Given the description of an element on the screen output the (x, y) to click on. 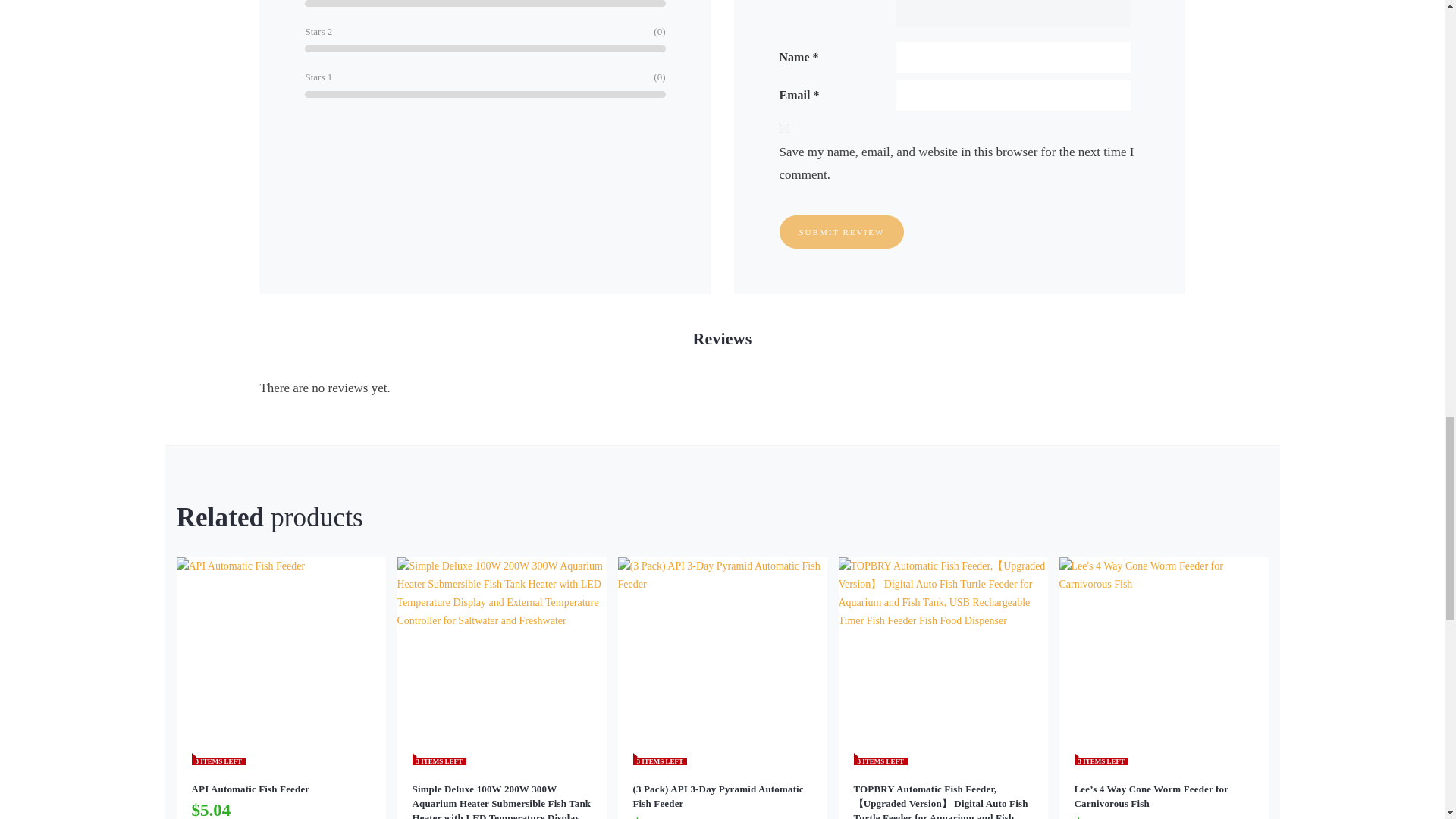
yes (783, 128)
API Automatic Fish Feeder (279, 789)
